Given the description of an element on the screen output the (x, y) to click on. 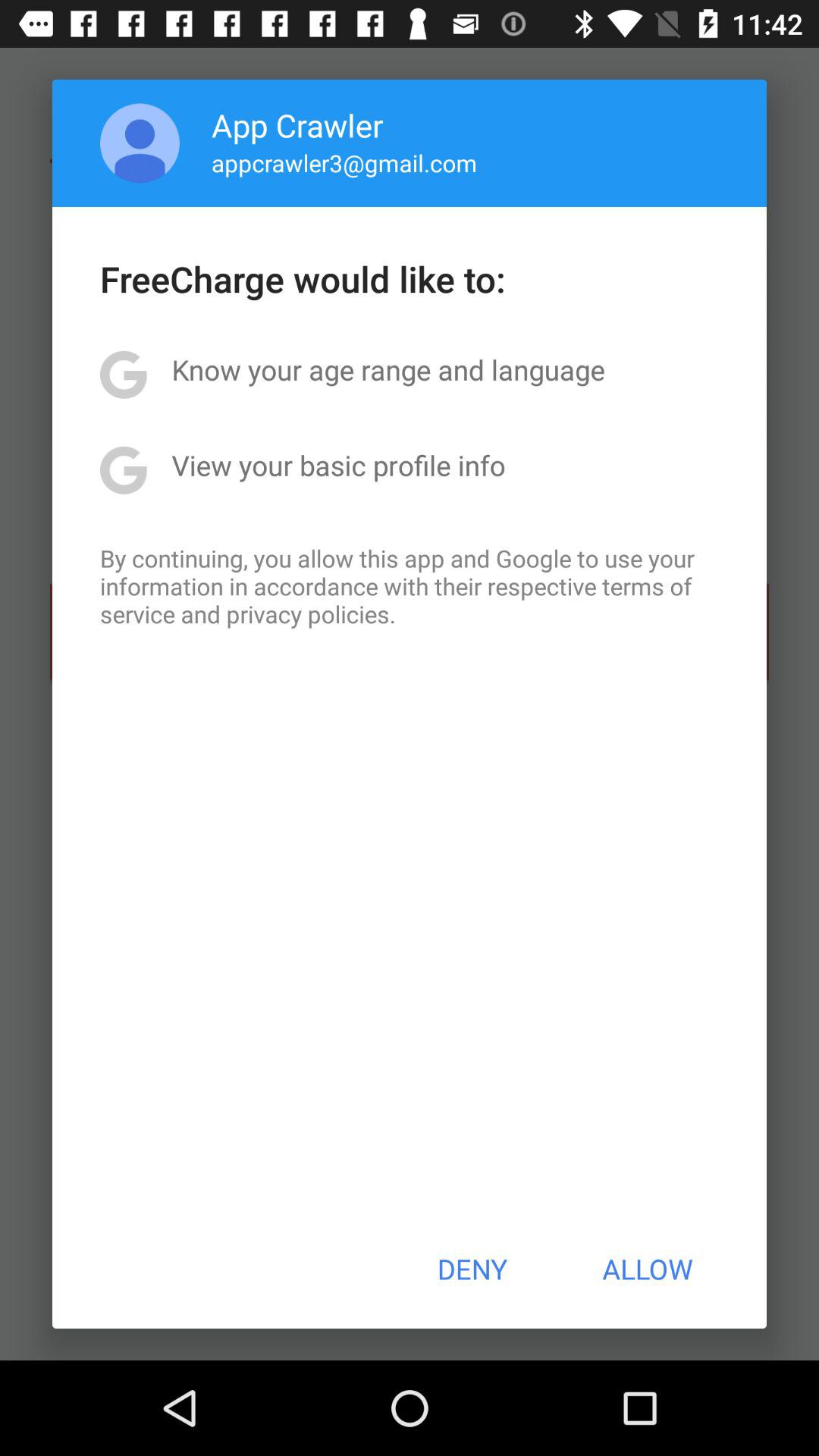
swipe until appcrawler3@gmail.com app (344, 162)
